Given the description of an element on the screen output the (x, y) to click on. 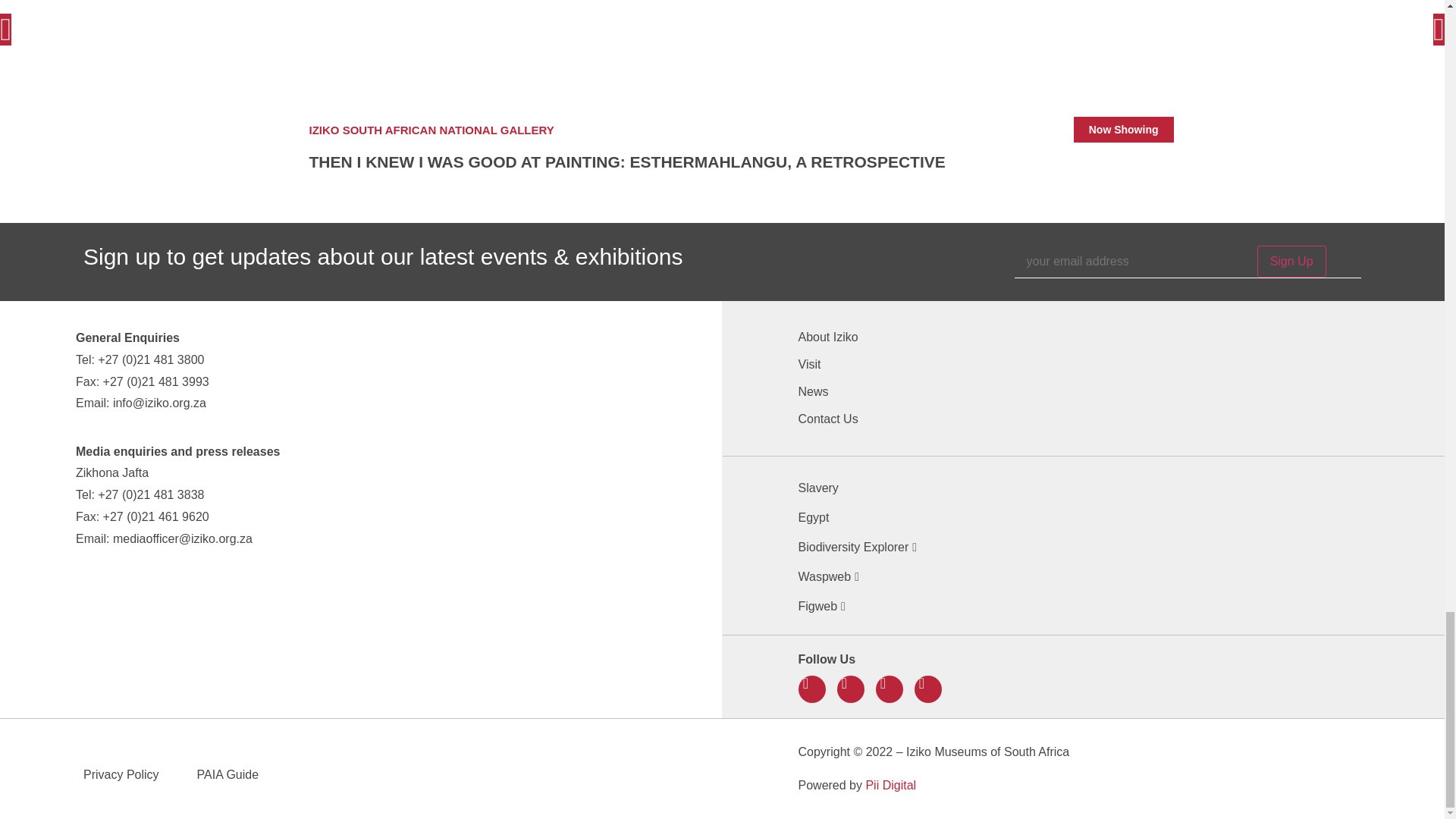
Sign Up (1291, 261)
Sign Up (1291, 261)
